Given the description of an element on the screen output the (x, y) to click on. 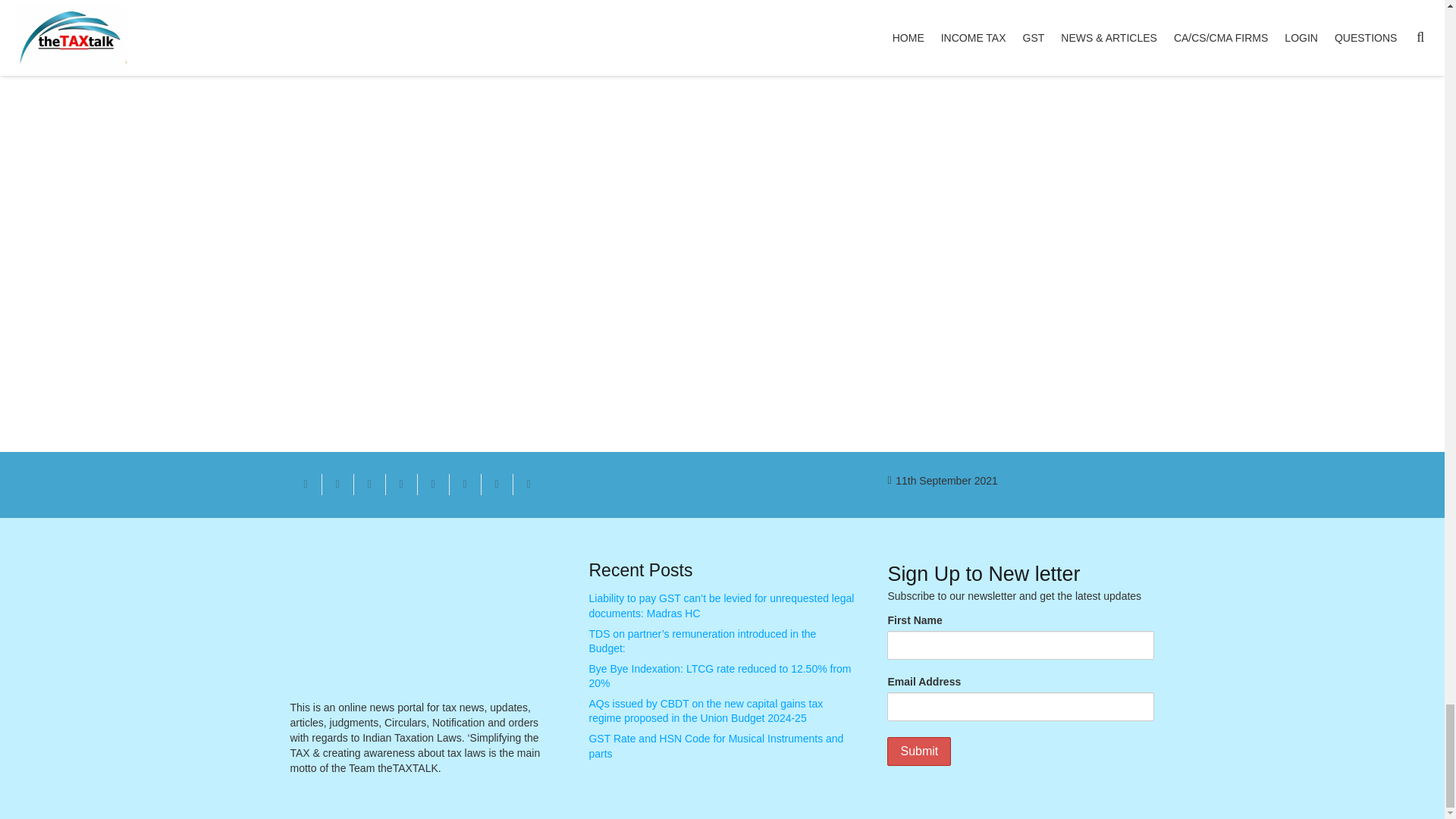
Pin this (432, 484)
Share this (496, 484)
Share this (464, 484)
Share this (337, 484)
Email this (305, 484)
Submit (918, 750)
Share this (528, 484)
Share this (400, 484)
Tweet this (369, 484)
